Given the description of an element on the screen output the (x, y) to click on. 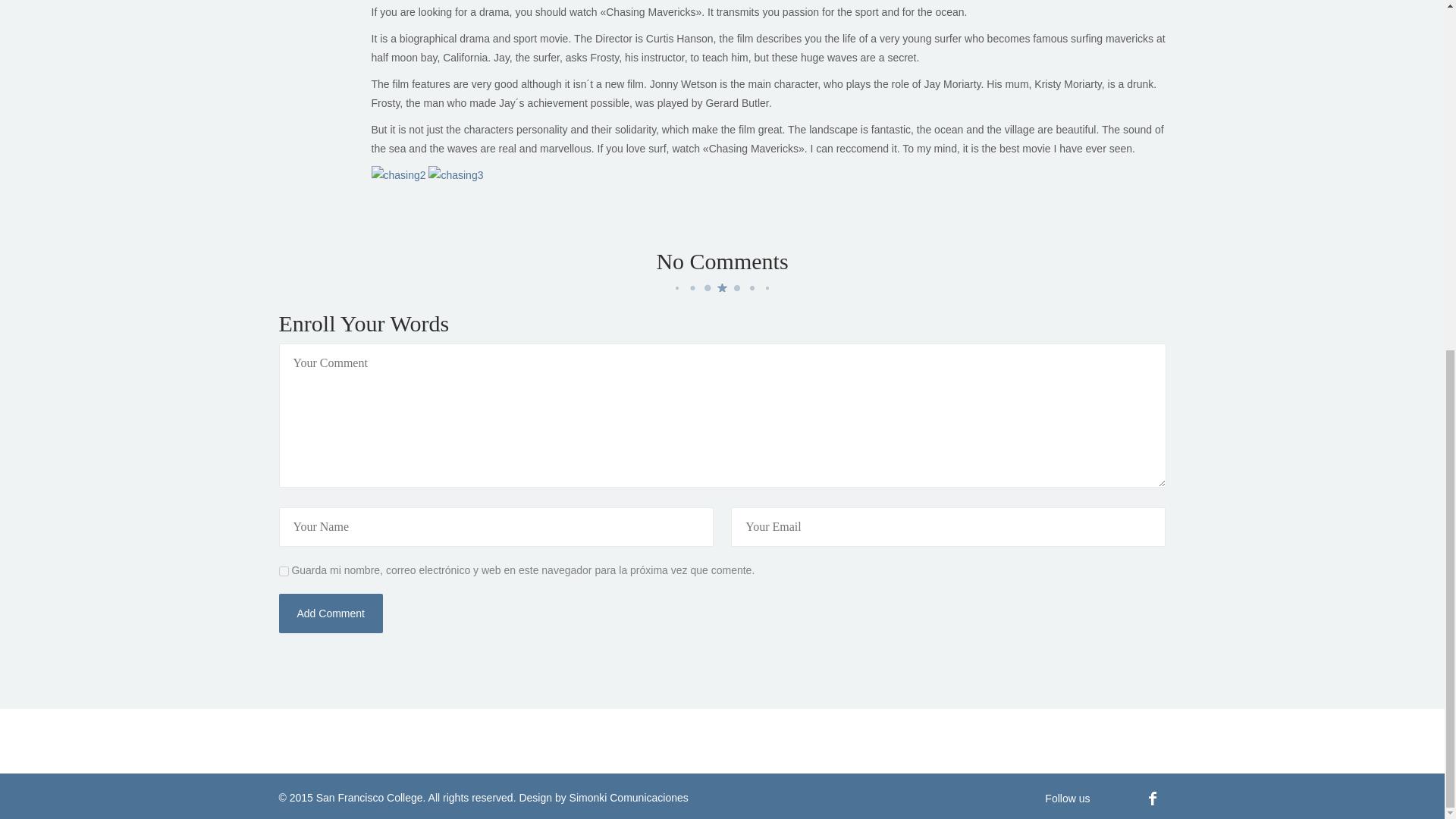
Simonki Comunicaciones (628, 797)
yes (283, 571)
Facebook (1152, 797)
Add Comment (330, 613)
Add Comment (330, 613)
